Given the description of an element on the screen output the (x, y) to click on. 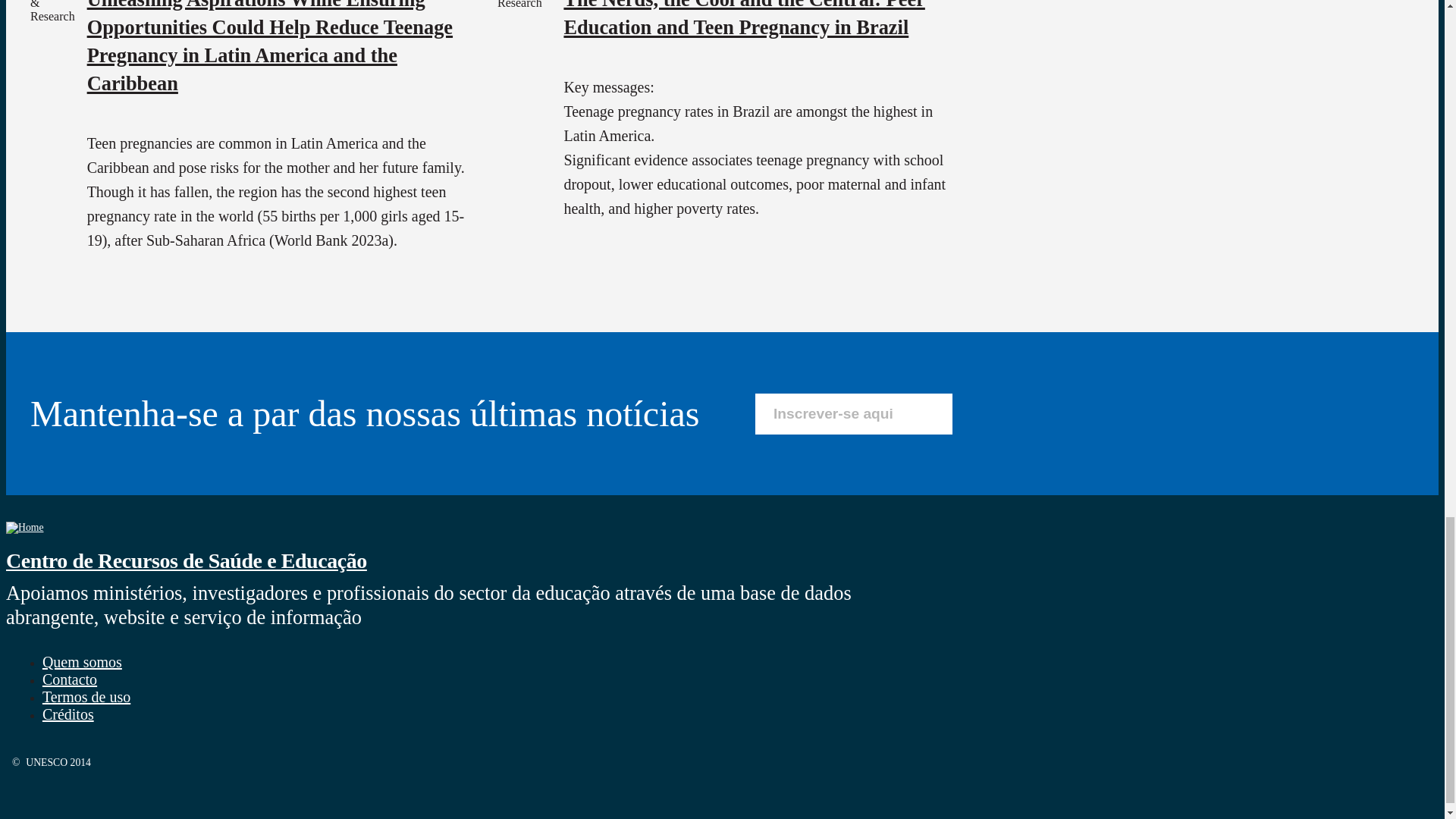
Home (24, 527)
Home (185, 560)
